Given the description of an element on the screen output the (x, y) to click on. 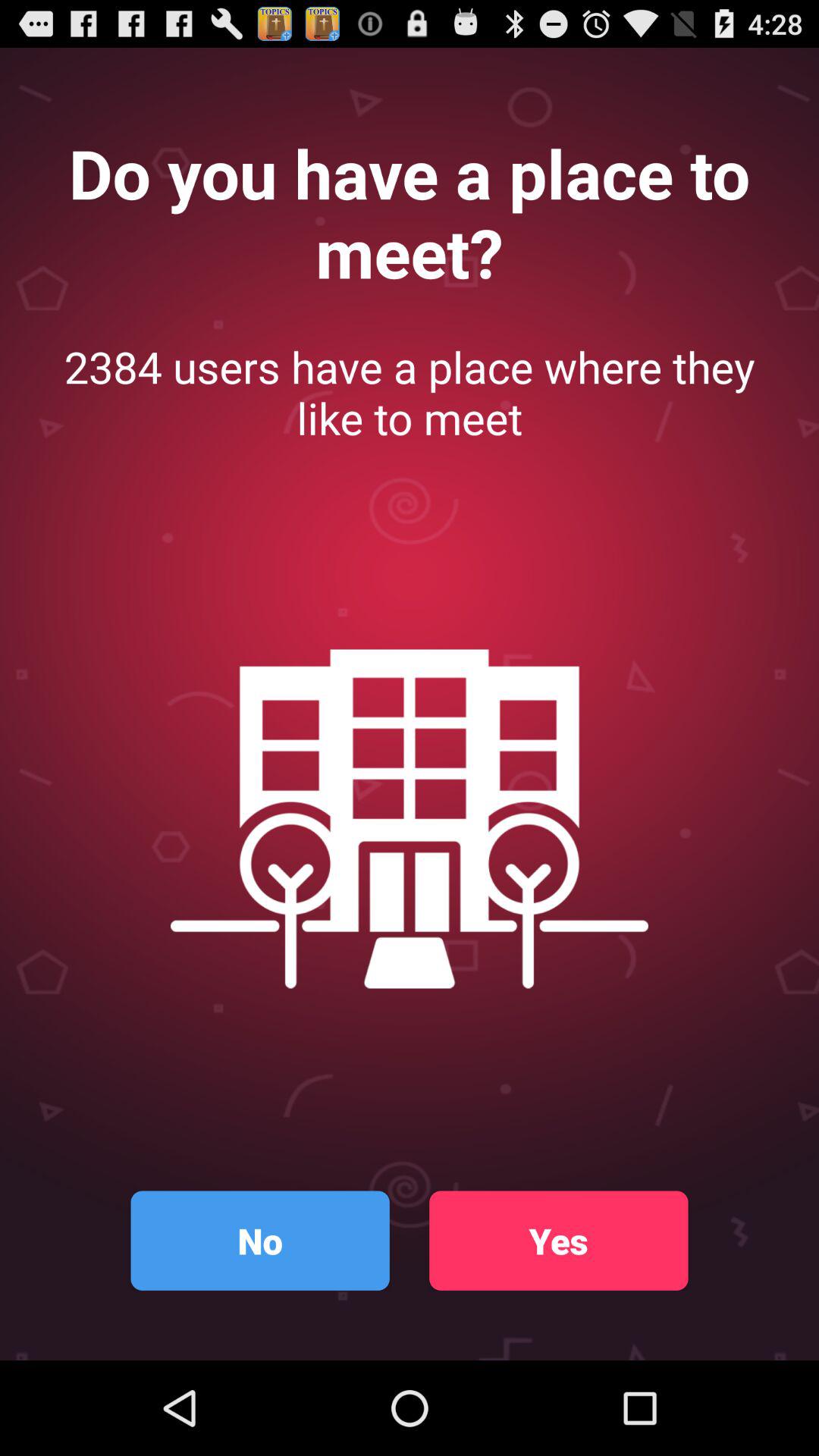
tap button next to the no (558, 1240)
